Given the description of an element on the screen output the (x, y) to click on. 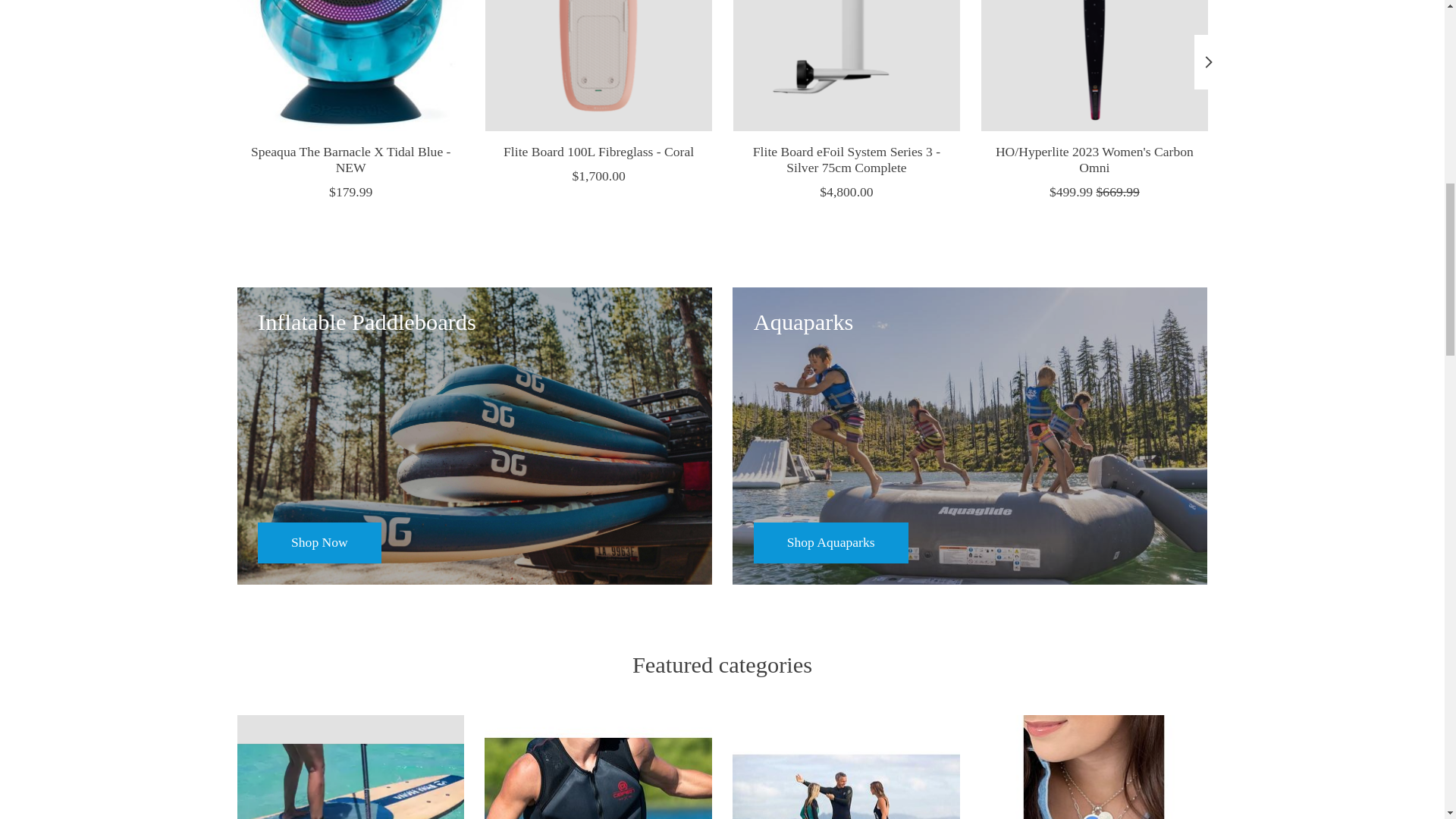
Flite Board 100L Fibreglass - Coral (597, 65)
Speaqua The Barnacle X Tidal Blue - NEW (349, 65)
CGA Vests (597, 766)
Flite Board eFoil System Series 3 - Silver 75cm Complete (845, 65)
Paddleboard (350, 766)
Lola Pendants (1093, 766)
Fliteboard (845, 766)
